Given the description of an element on the screen output the (x, y) to click on. 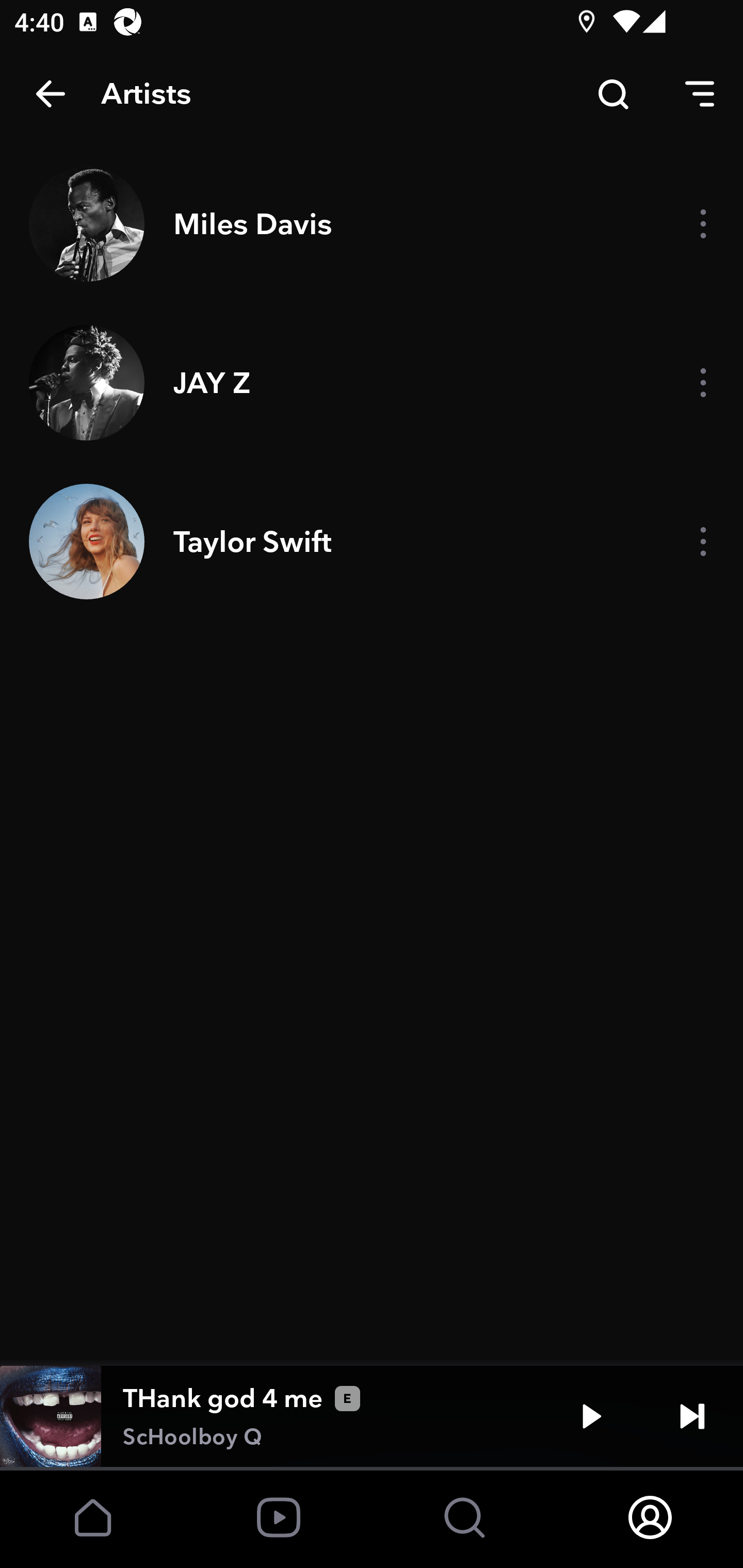
Back (50, 93)
Search (612, 93)
Sorting (699, 93)
Miles Davis (371, 223)
JAY Z (371, 382)
Taylor Swift (371, 541)
THank god 4 me    ScHoolboy Q Play (371, 1416)
Play (590, 1416)
